Given the description of an element on the screen output the (x, y) to click on. 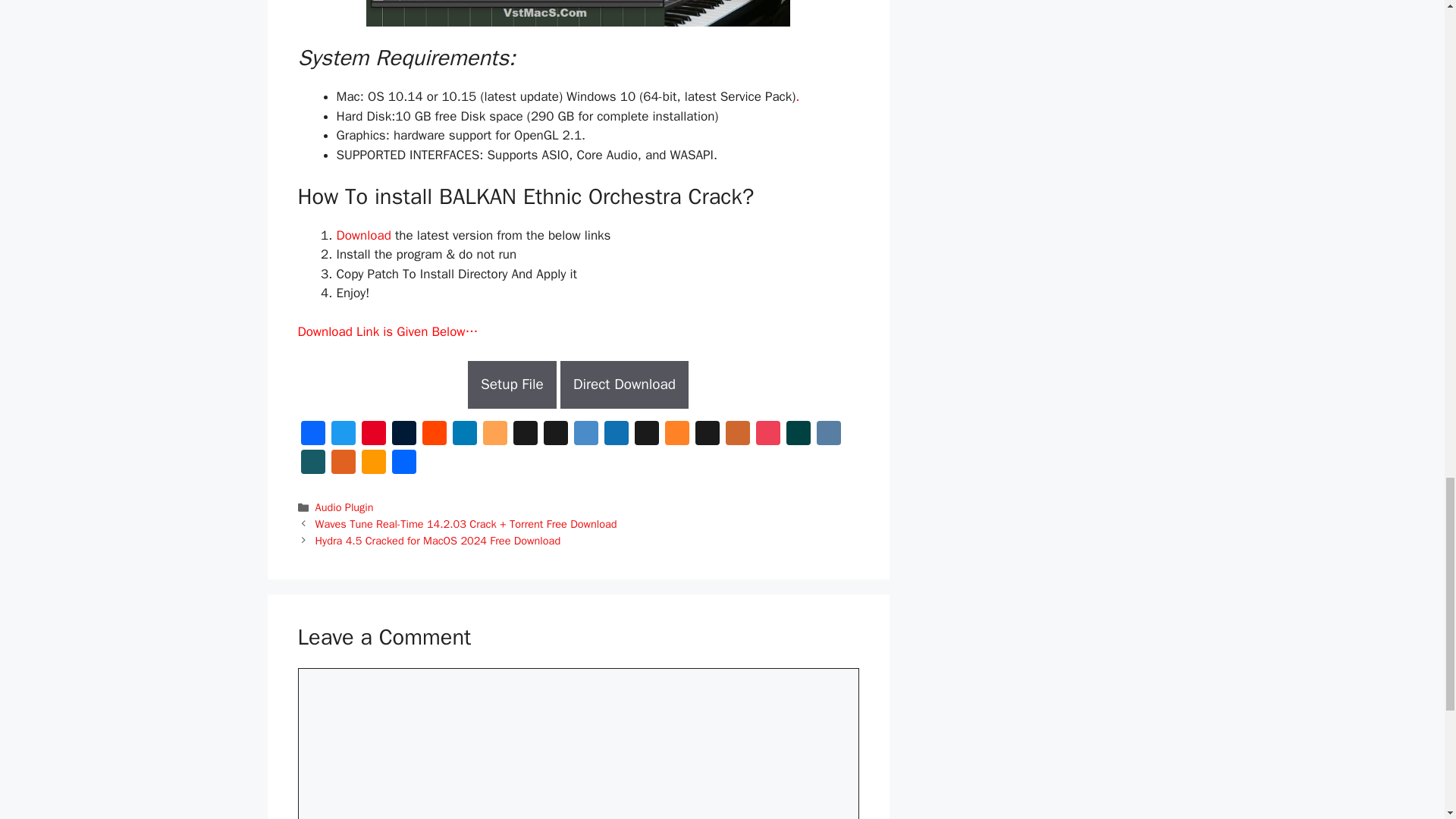
Twitter (342, 434)
Facebook (312, 434)
Mix (676, 434)
Buffer (524, 434)
Mix (676, 434)
Tumblr (403, 434)
Buffer (524, 434)
Folkd (614, 434)
Facebook (312, 434)
Setup File (511, 384)
